Given the description of an element on the screen output the (x, y) to click on. 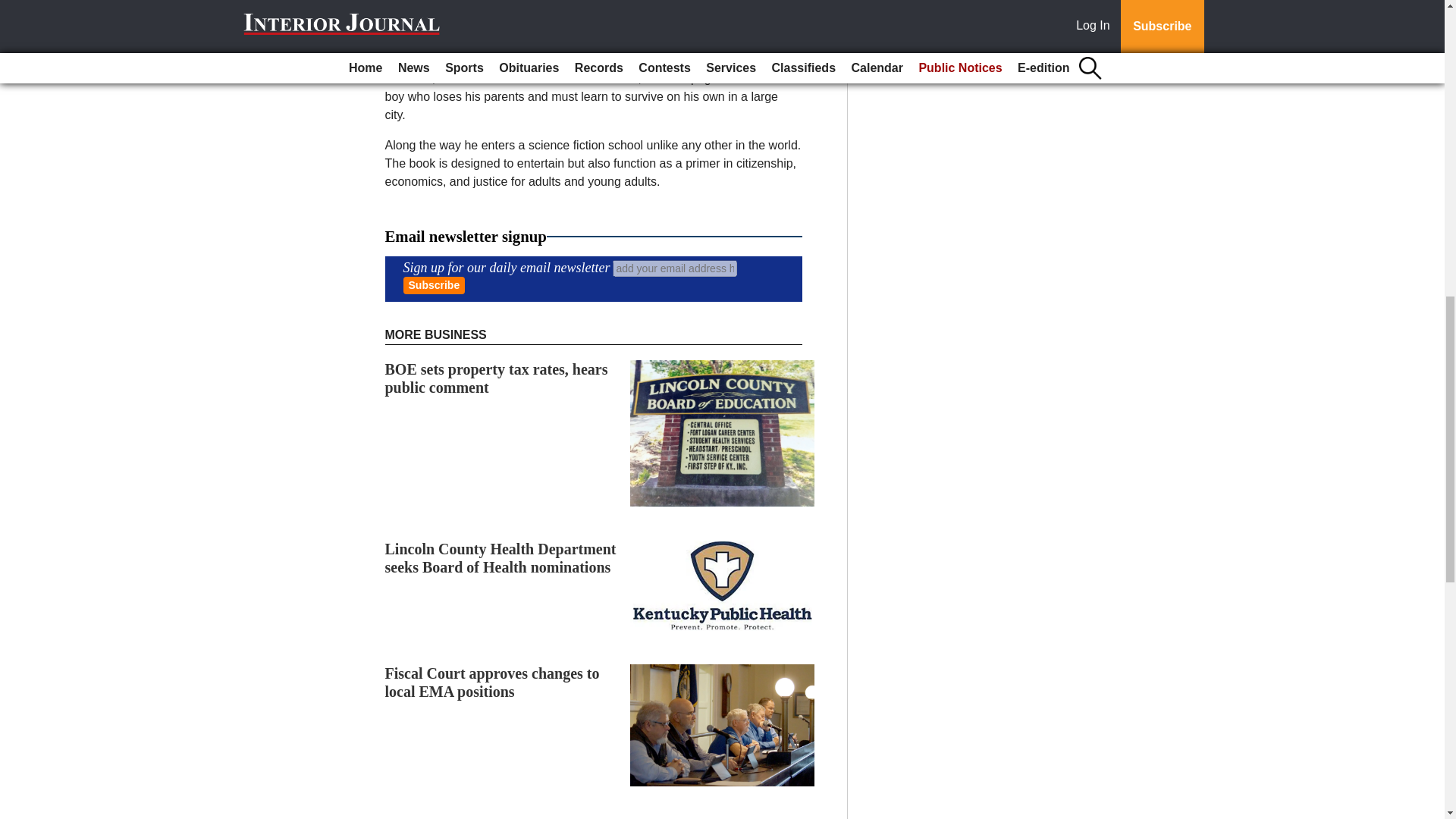
Fiscal Court approves changes to local EMA positions (492, 682)
Fiscal Court approves changes to local EMA positions (492, 682)
BOE sets property tax rates, hears public comment (496, 378)
Subscribe (434, 285)
BOE sets property tax rates, hears public comment (496, 378)
Subscribe (434, 285)
